Given the description of an element on the screen output the (x, y) to click on. 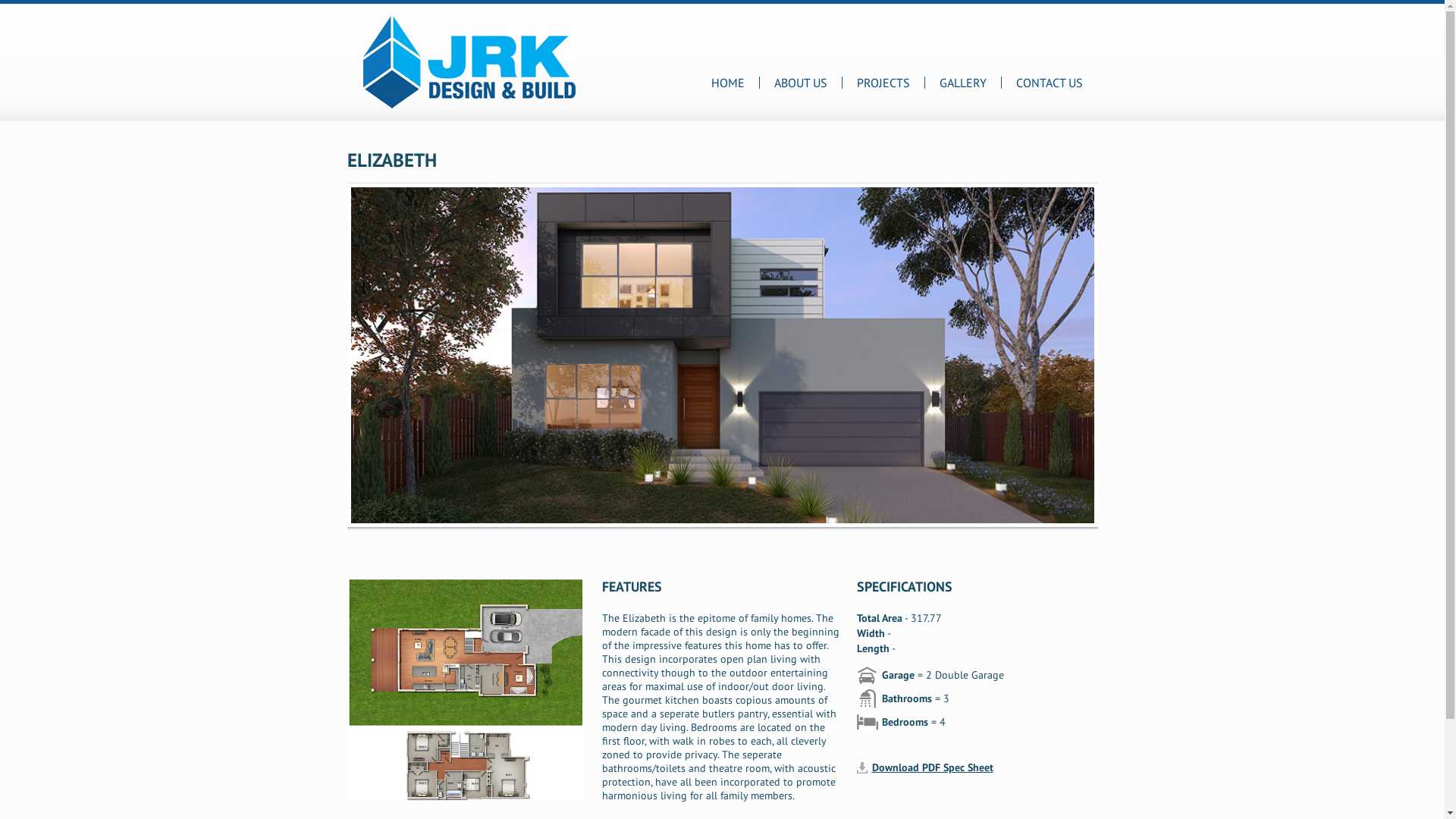
CONTACT US Element type: text (1049, 82)
ABOUT US Element type: text (799, 82)
Download PDF Spec Sheet Element type: text (932, 767)
HOME Element type: text (727, 82)
GALLERY Element type: text (962, 82)
PROJECTS Element type: text (883, 82)
